Given the description of an element on the screen output the (x, y) to click on. 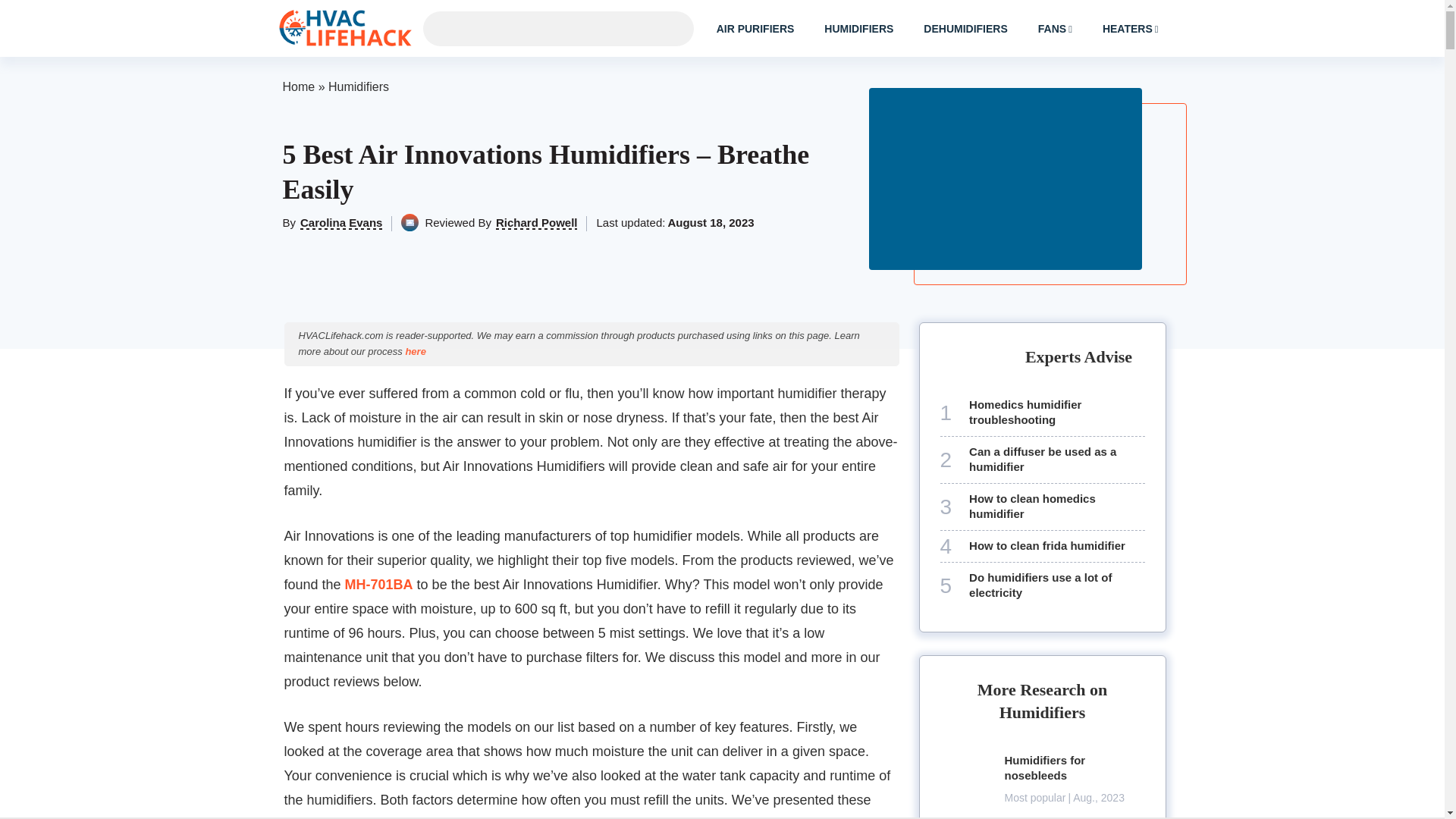
DEHUMIDIFIERS (964, 28)
Humidifiers (358, 86)
AIR PURIFIERS (755, 28)
here (414, 351)
HEATERS (1130, 28)
Richard Powell (537, 223)
Carolina Evans (340, 223)
Home (298, 86)
MH-701BA (379, 584)
HUMIDIFIERS (858, 28)
FANS (1055, 28)
